Given the description of an element on the screen output the (x, y) to click on. 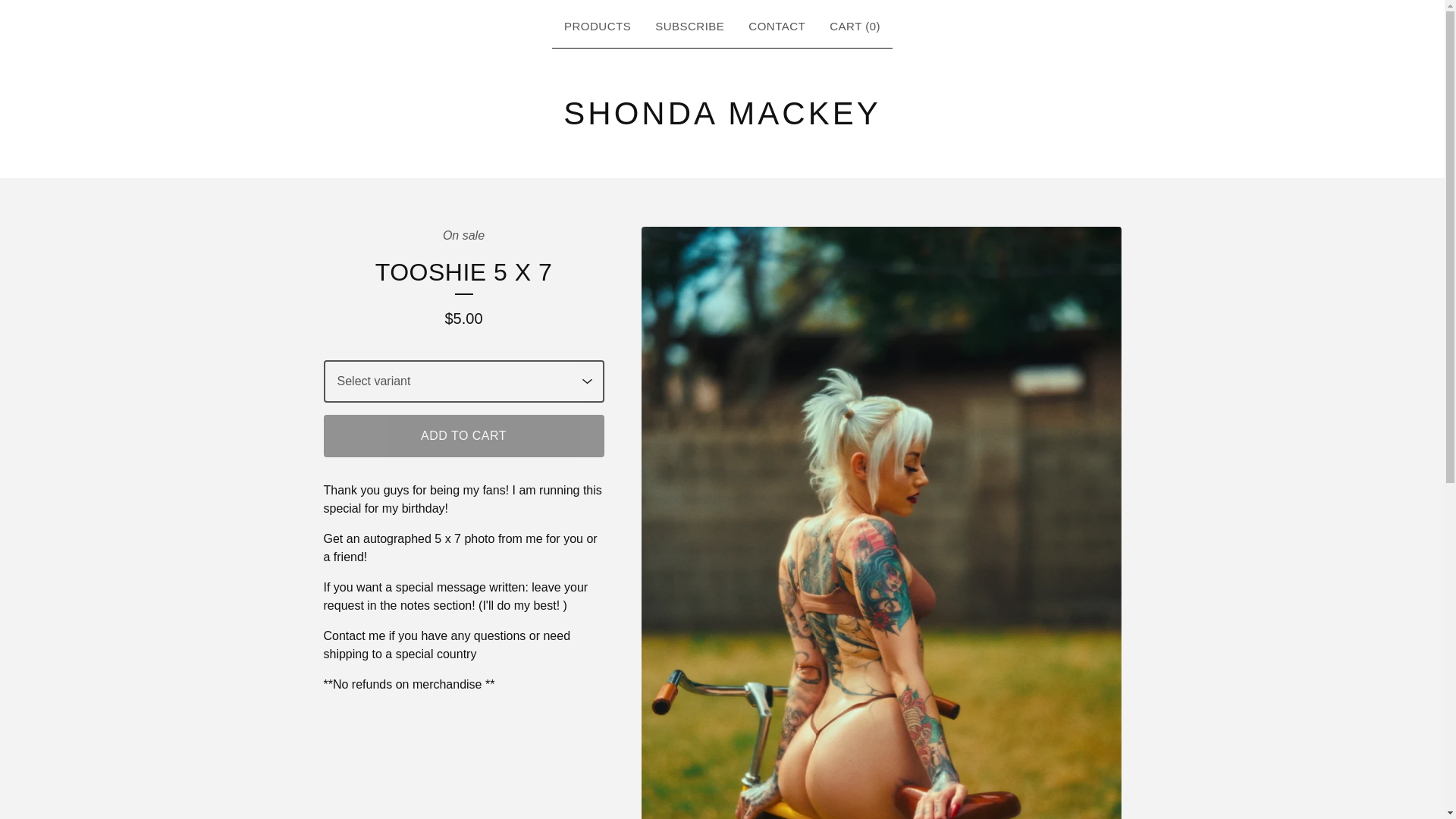
CONTACT (776, 26)
SUBSCRIBE (689, 26)
Home (721, 113)
ADD TO CART (463, 435)
SHONDA MACKEY (721, 113)
View Subscribe (689, 26)
PRODUCTS (597, 26)
